Given the description of an element on the screen output the (x, y) to click on. 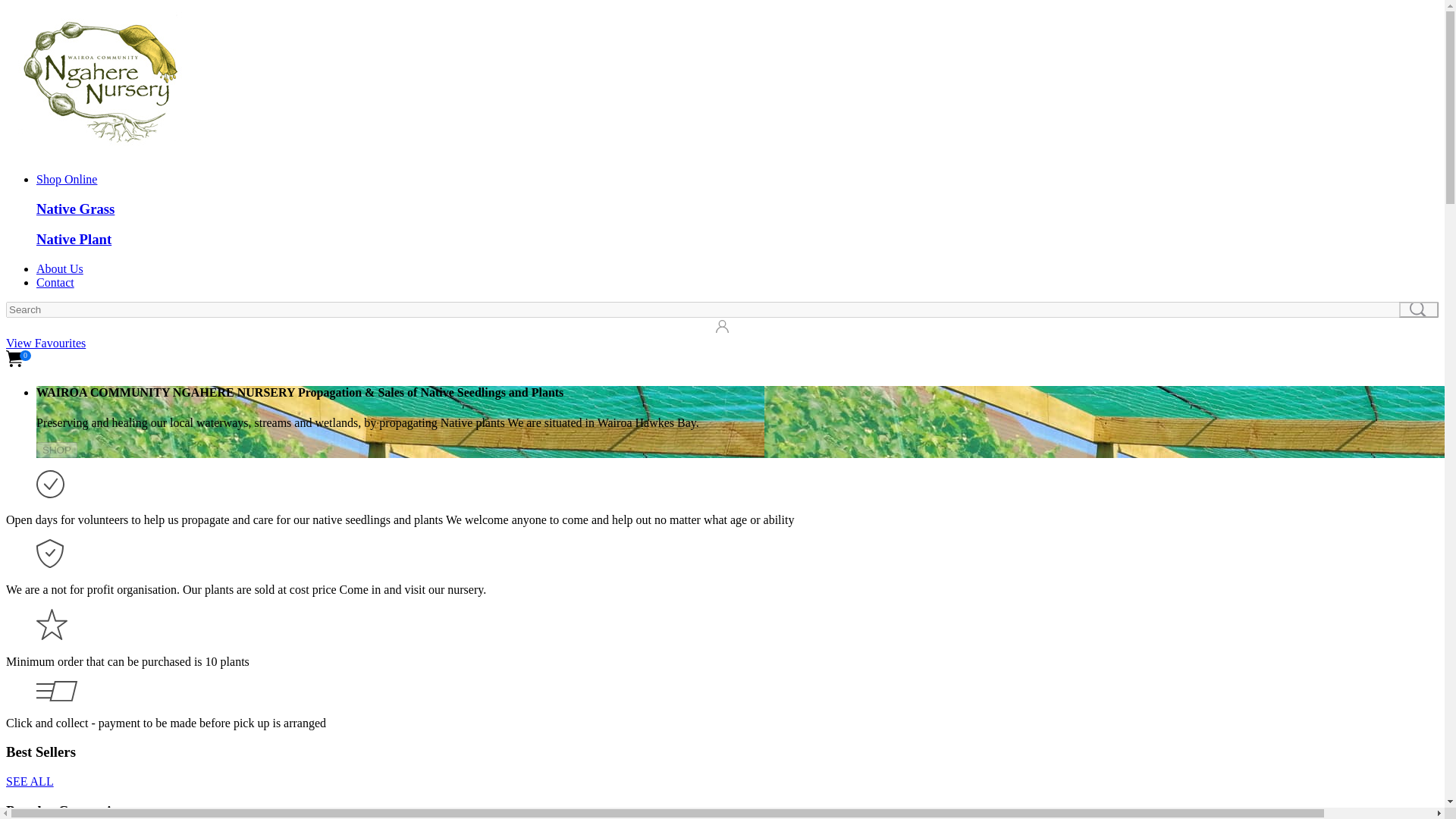
View Favourites (45, 342)
Native Grass (75, 208)
SEE ALL (29, 780)
SHOP (56, 449)
Native Plant (74, 238)
Login (14, 326)
SHOP (56, 449)
Search (1418, 309)
Contact (55, 282)
Shop Online (66, 178)
About Us (59, 268)
